Given the description of an element on the screen output the (x, y) to click on. 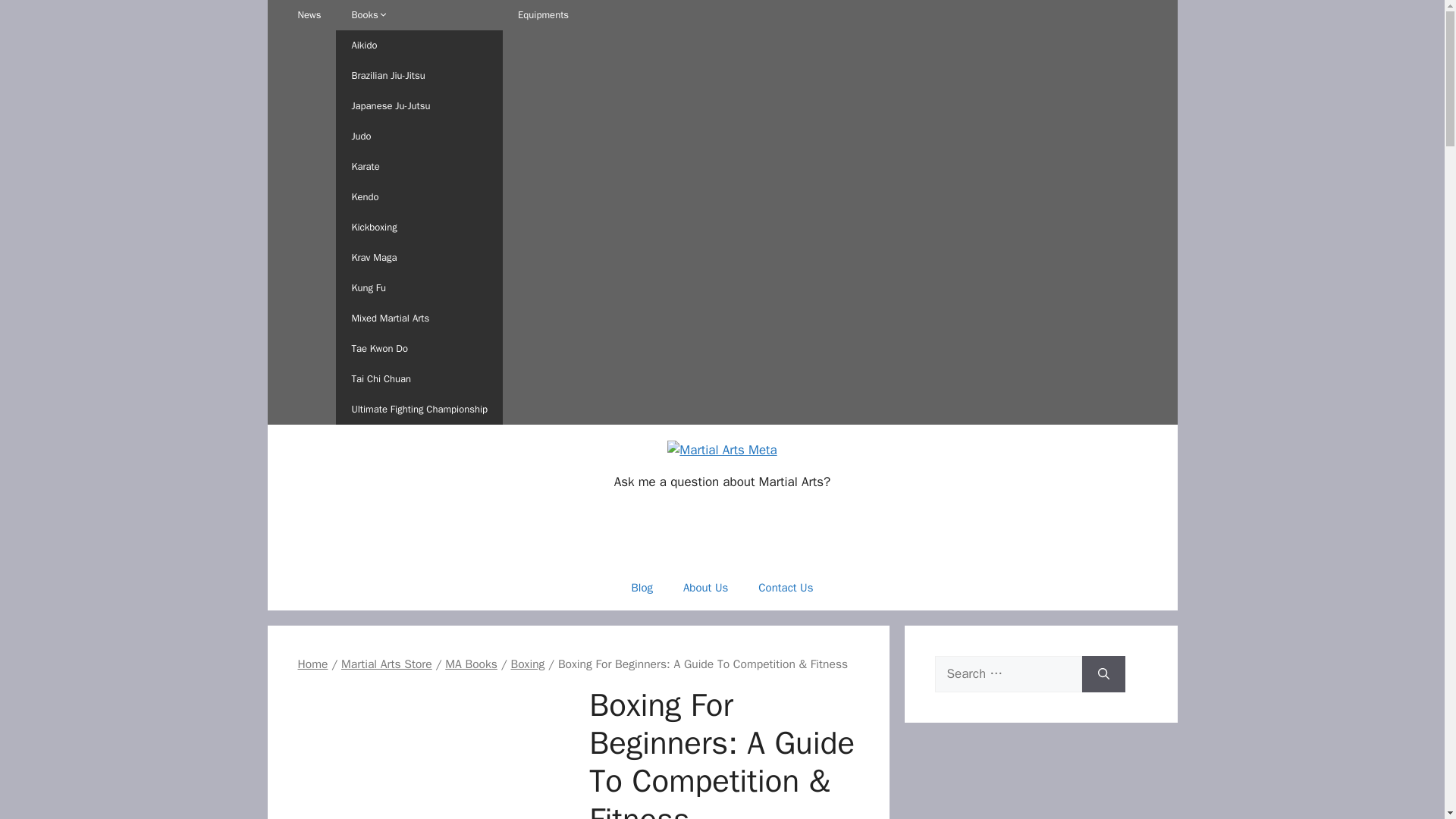
About Us (705, 587)
Kung Fu (419, 287)
MA Books (471, 663)
Kickboxing (419, 227)
Equipments (542, 15)
Martial Arts Store (386, 663)
Search for: (1007, 674)
Tai Chi Chuan (419, 378)
Contact Us (785, 587)
Aikido (419, 45)
